Given the description of an element on the screen output the (x, y) to click on. 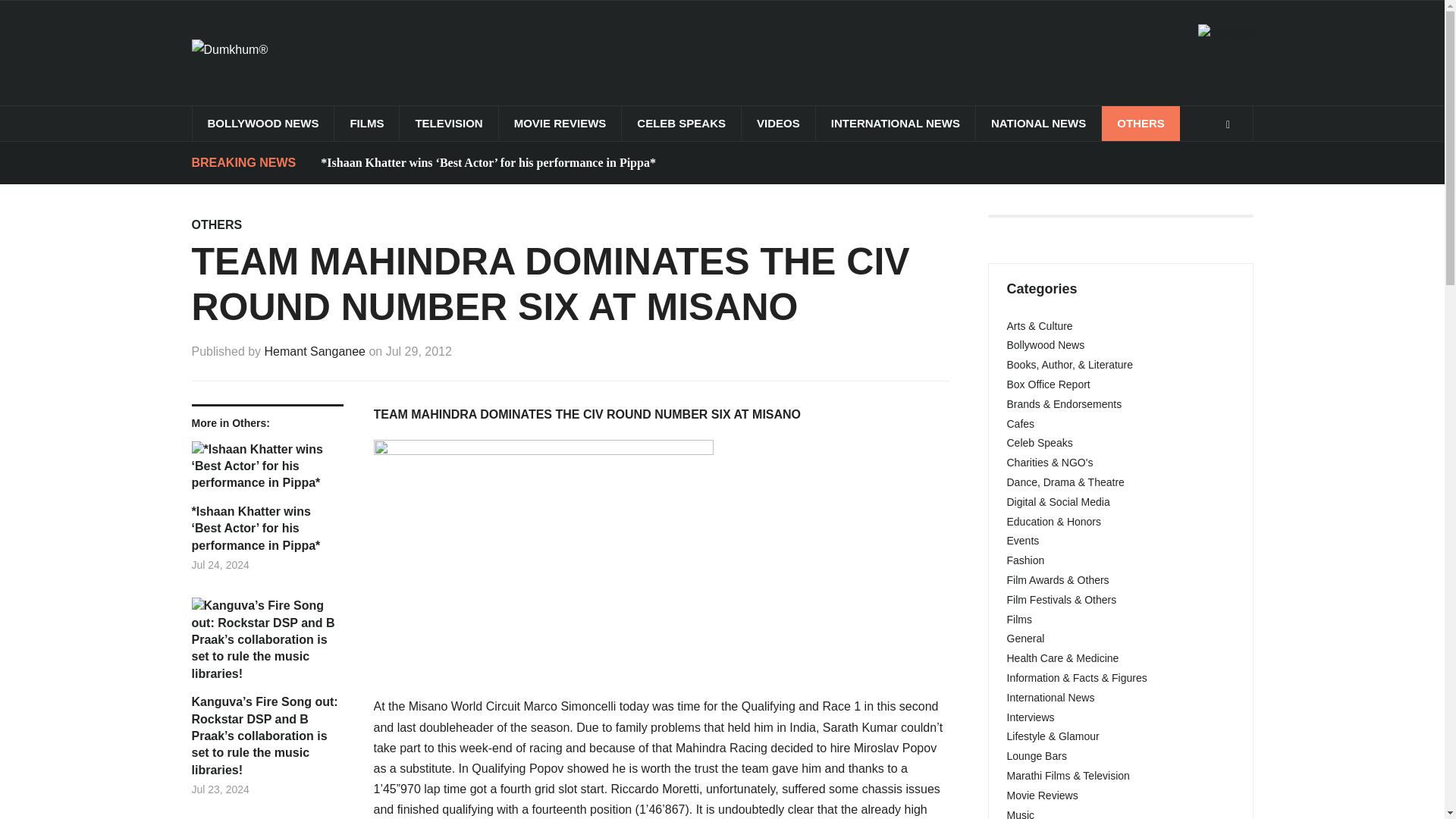
Posts by Hemant Sanganee (314, 350)
Search (1227, 124)
Moretti Misano Saturday race (542, 552)
